Given the description of an element on the screen output the (x, y) to click on. 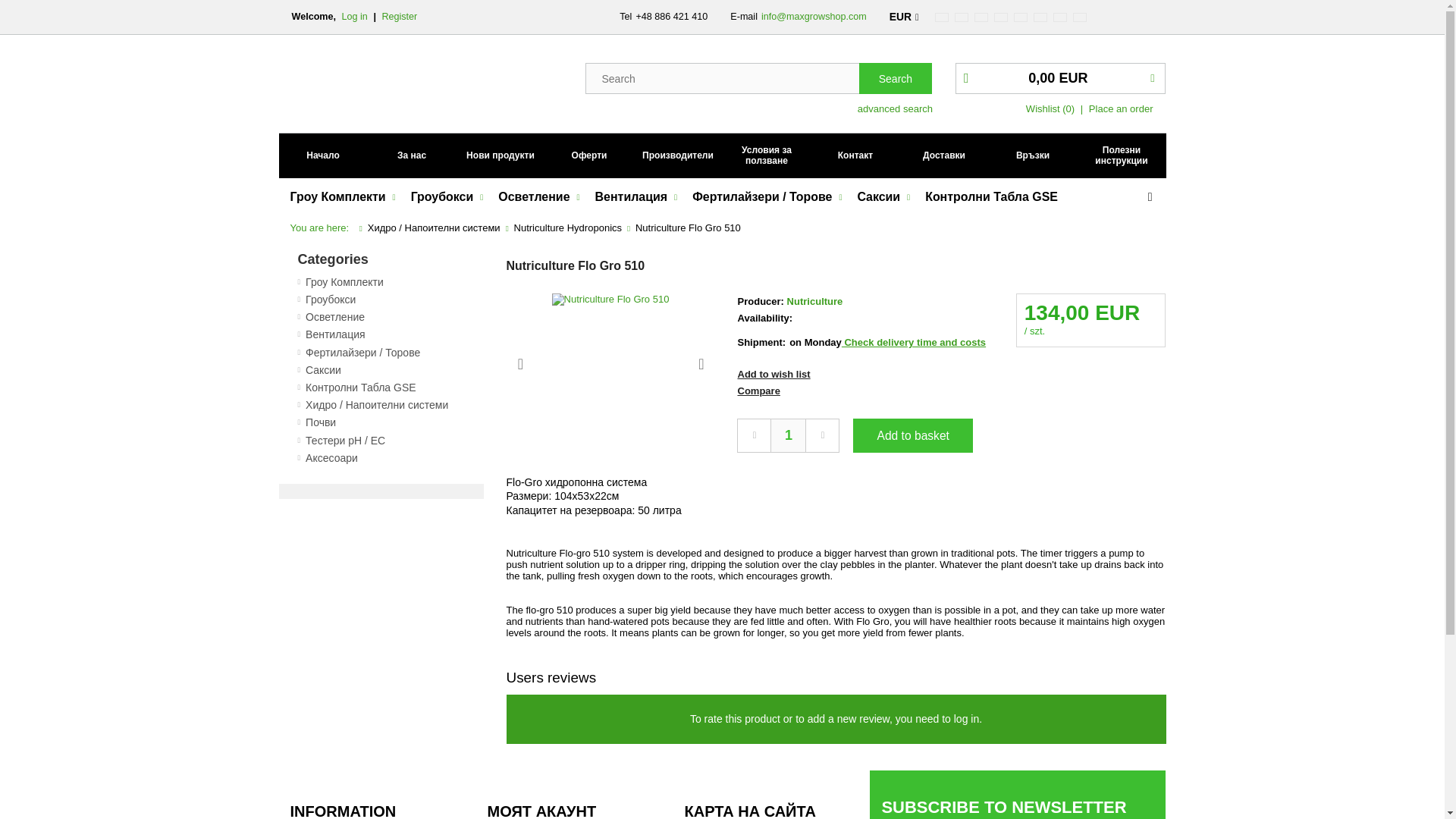
advanced search (895, 105)
Place an order (1121, 108)
Register (398, 16)
Search (895, 78)
Log in (356, 16)
0,00 EUR (1060, 78)
1 (788, 435)
